Given the description of an element on the screen output the (x, y) to click on. 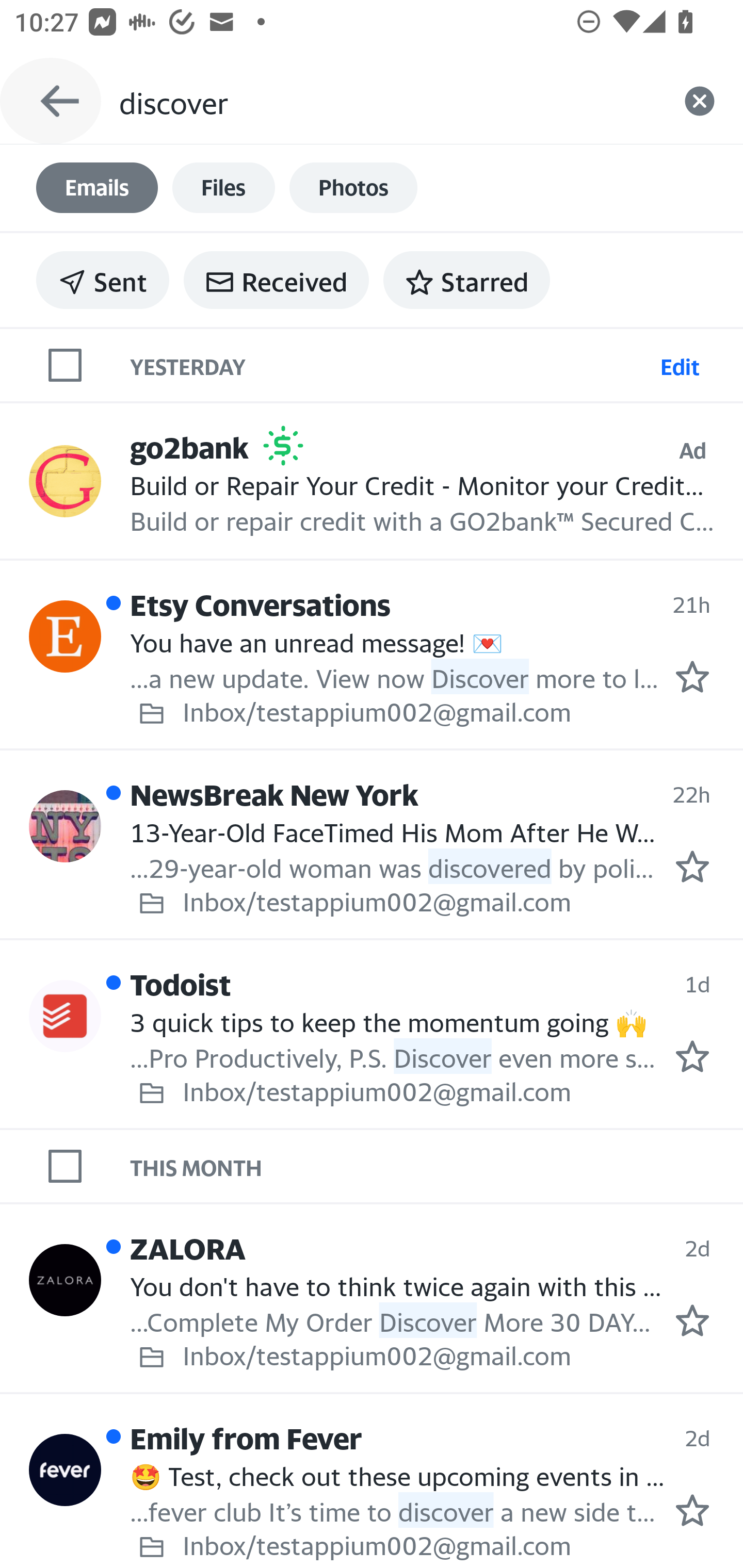
Back (50, 101)
discover (387, 101)
Clear (699, 101)
Emails (96, 188)
Files (223, 188)
Photos (353, 188)
Sent (102, 279)
Received (276, 279)
Starred (466, 279)
YESTERDAY (391, 364)
Edit Select emails (679, 364)
Sponsored (282, 445)
Ad (692, 449)
Profile
Etsy Conversations (64, 636)
Mark as starred. (692, 676)
Profile
NewsBreak New York (64, 826)
Mark as starred. (692, 866)
Profile
Todoist (64, 1016)
Mark as starred. (692, 1056)
THIS MONTH (436, 1165)
Profile
ZALORA (64, 1279)
Mark as starred. (692, 1321)
Profile
Emily from Fever (64, 1469)
Mark as starred. (692, 1510)
